Given the description of an element on the screen output the (x, y) to click on. 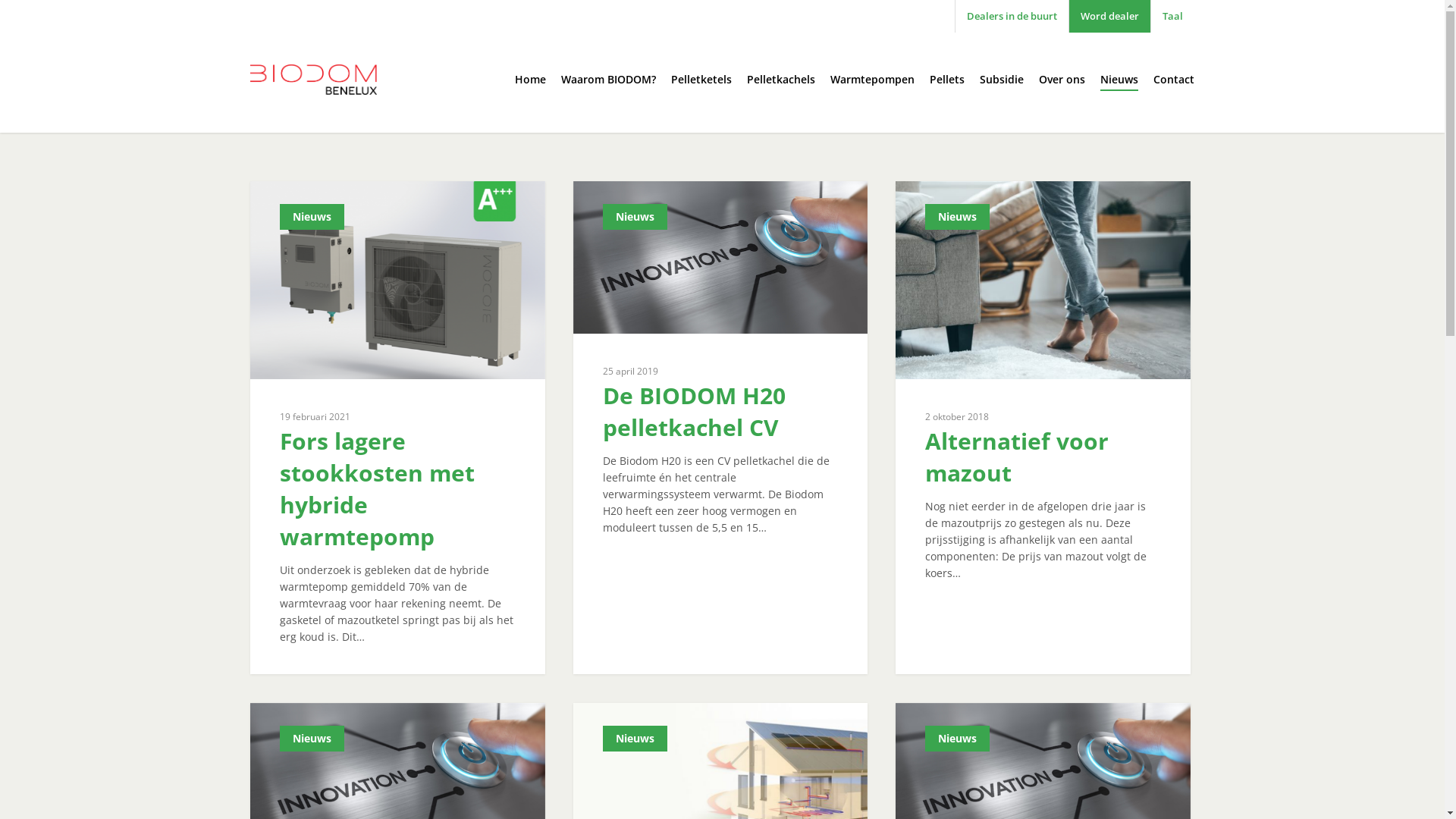
Nieuws Element type: text (634, 216)
Warmtepompen Element type: text (872, 79)
Nieuws Element type: text (311, 216)
Pellets Element type: text (946, 79)
Nieuws Element type: text (311, 738)
Subsidie Element type: text (1001, 79)
Home Element type: text (530, 79)
Nieuws Element type: text (634, 738)
Over ons Element type: text (1061, 79)
Nieuws Element type: text (1119, 79)
Waarom BIODOM? Element type: text (608, 79)
Pelletkachels Element type: text (780, 79)
Contact Element type: text (1173, 79)
Word dealer Element type: text (1109, 16)
Dealers in de buurt Element type: text (1011, 16)
Taal Element type: text (1172, 16)
Nieuws Element type: text (957, 216)
Pelletketels Element type: text (701, 79)
Nieuws Element type: text (957, 738)
